Given the description of an element on the screen output the (x, y) to click on. 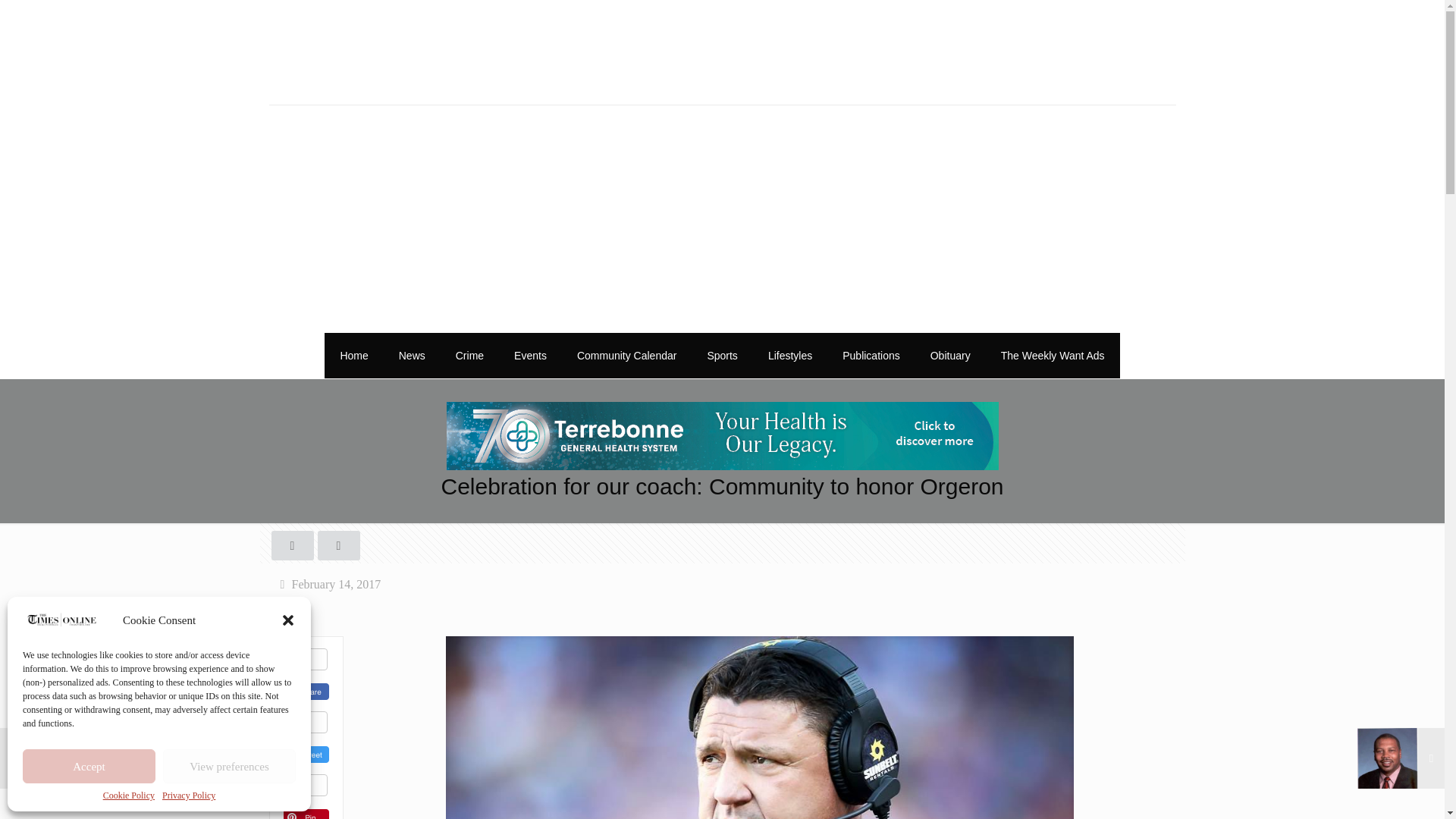
Home (353, 355)
Privacy Policy (188, 795)
The Weekly Want Ads (1052, 355)
Publications (871, 355)
View preferences (229, 765)
Cookie Policy (128, 795)
Accept (89, 765)
Obituary (950, 355)
Crime (470, 355)
Sports (721, 355)
Community Calendar (627, 355)
Lifestyles (789, 355)
Events (530, 355)
News (412, 355)
